Given the description of an element on the screen output the (x, y) to click on. 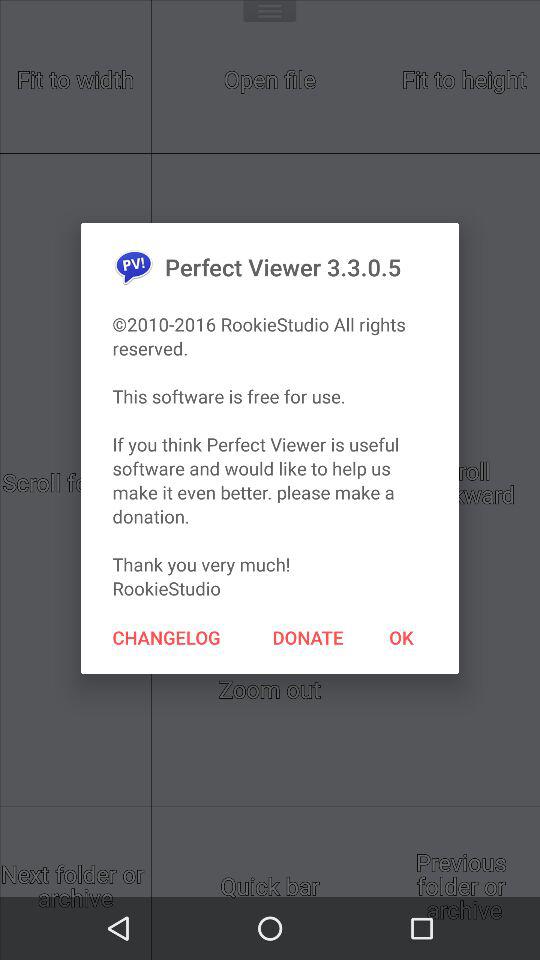
turn on item to the left of the ok item (307, 637)
